Given the description of an element on the screen output the (x, y) to click on. 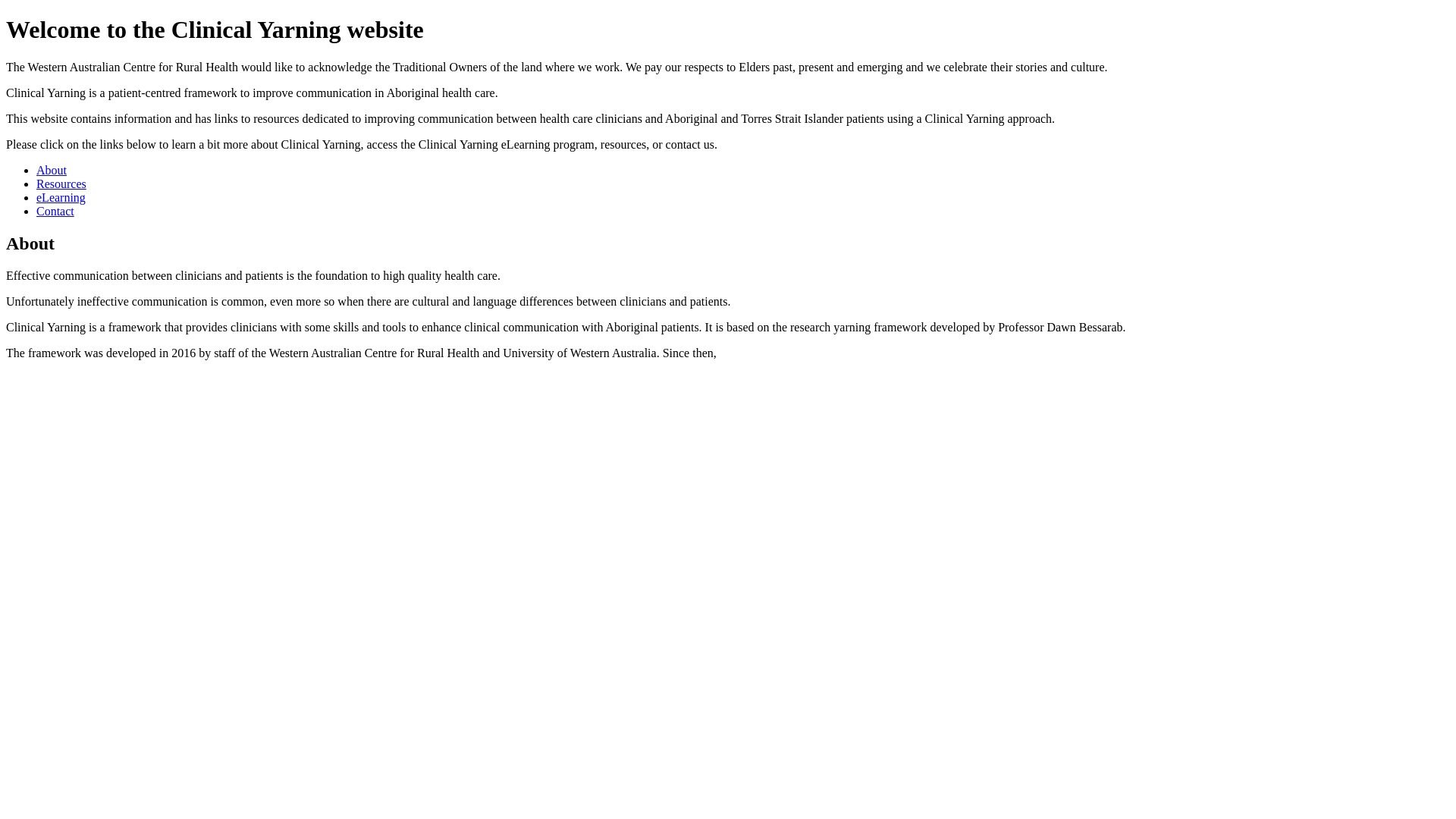
Resources Element type: text (61, 183)
About Element type: text (51, 169)
Contact Element type: text (55, 210)
eLearning Element type: text (60, 197)
